Given the description of an element on the screen output the (x, y) to click on. 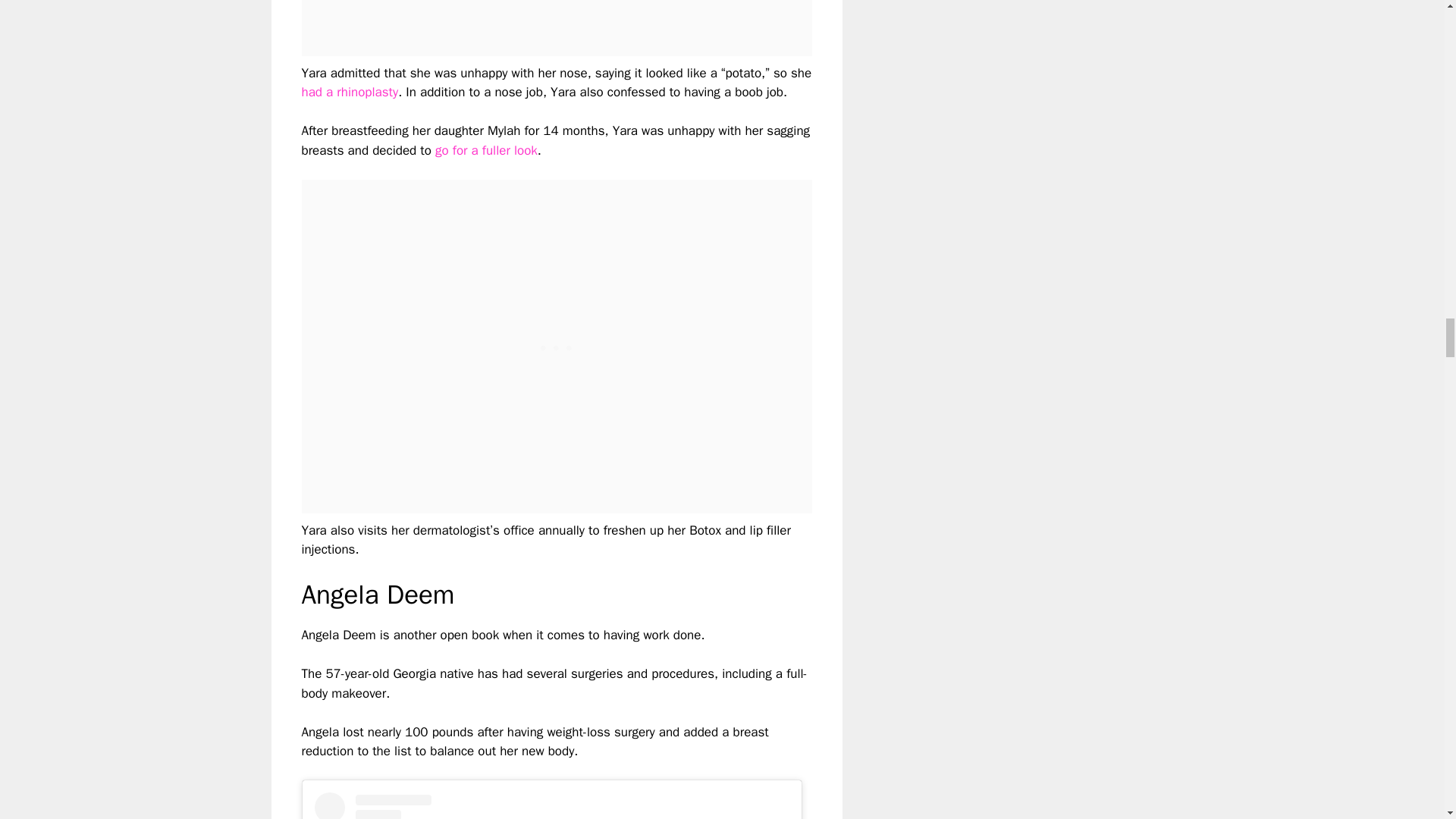
go for a fuller look (486, 150)
View this post on Instagram (551, 805)
had a rhinoplasty (349, 91)
